Given the description of an element on the screen output the (x, y) to click on. 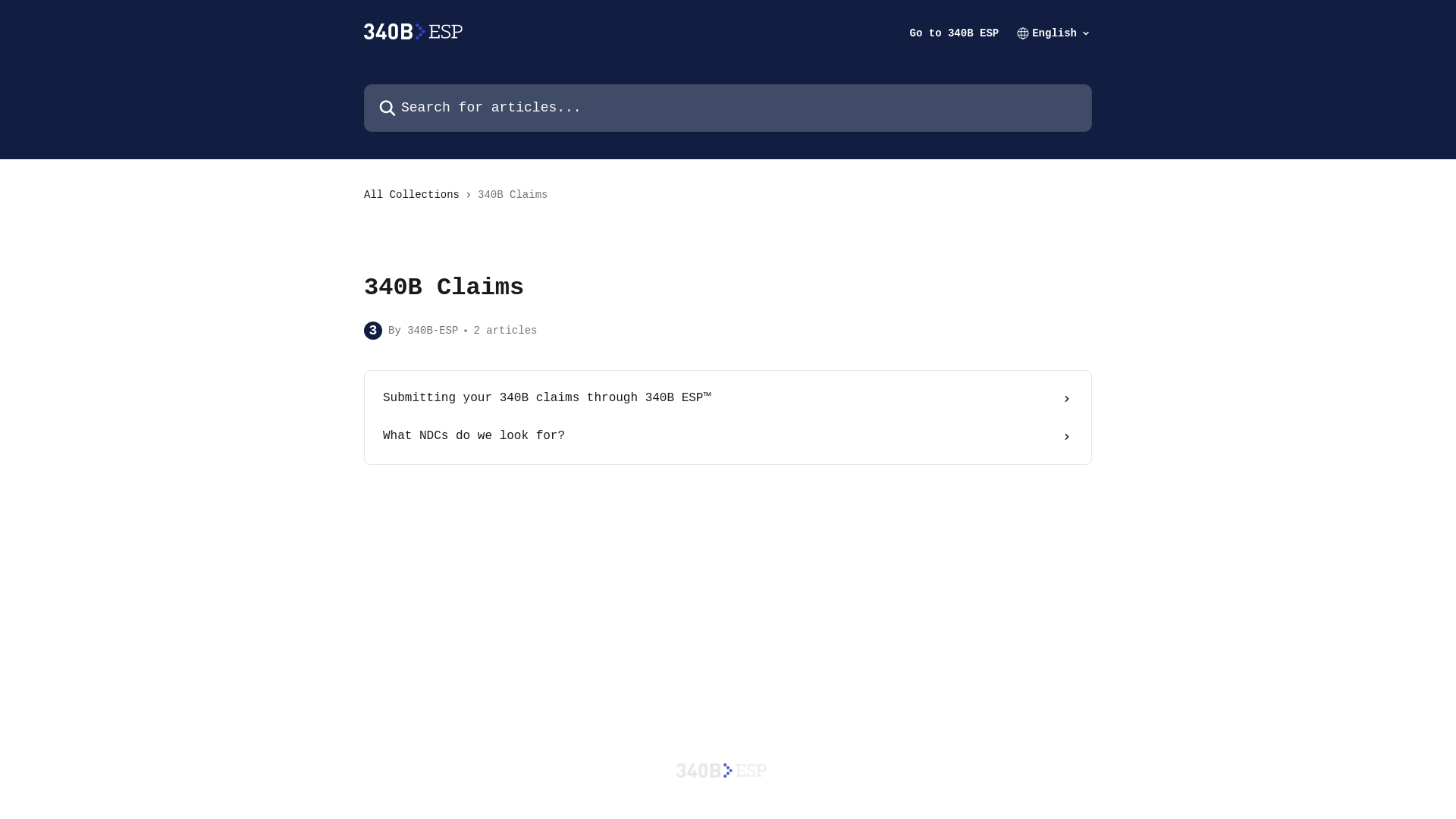
Go to 340B ESP Element type: text (954, 32)
What NDCs do we look for? Element type: text (727, 436)
All Collections Element type: text (414, 194)
